Given the description of an element on the screen output the (x, y) to click on. 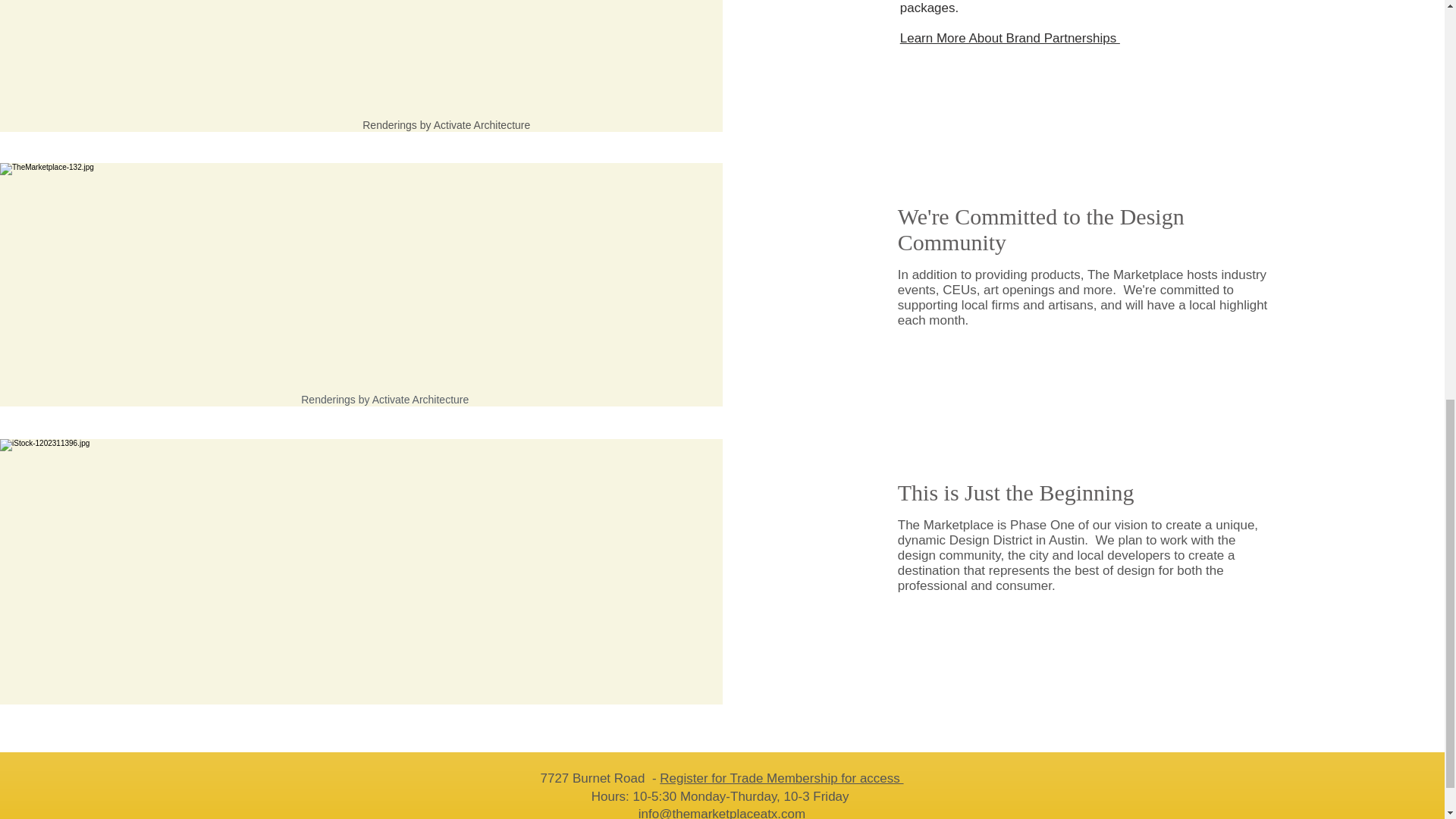
Learn More About Brand Partnerships  (1009, 38)
Activate Architecture (260, 87)
Activate Architecture (482, 124)
Register for Trade Membership for access  (780, 778)
Activate Architecture (420, 399)
